Given the description of an element on the screen output the (x, y) to click on. 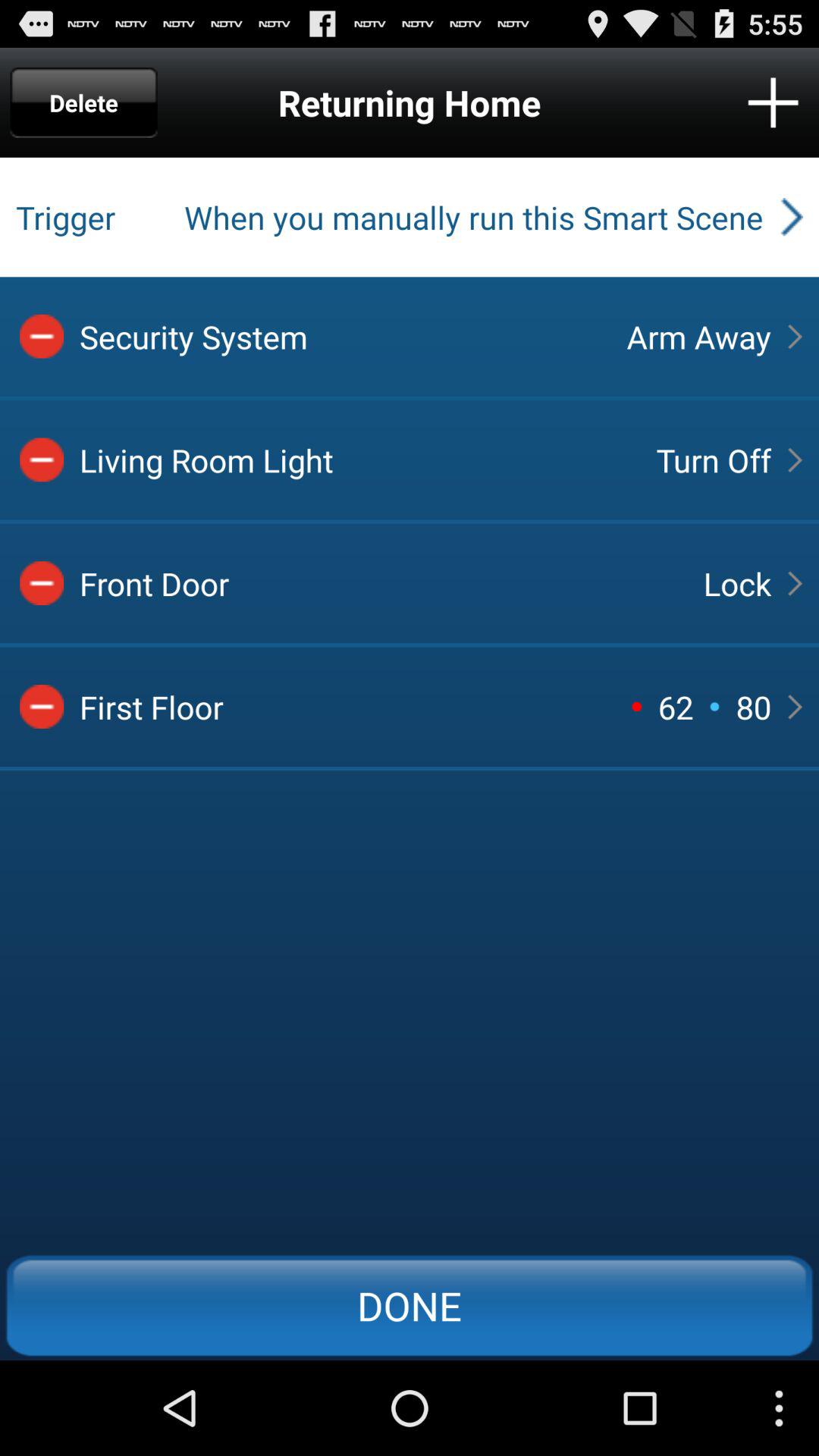
delete security system trigger (41, 336)
